Given the description of an element on the screen output the (x, y) to click on. 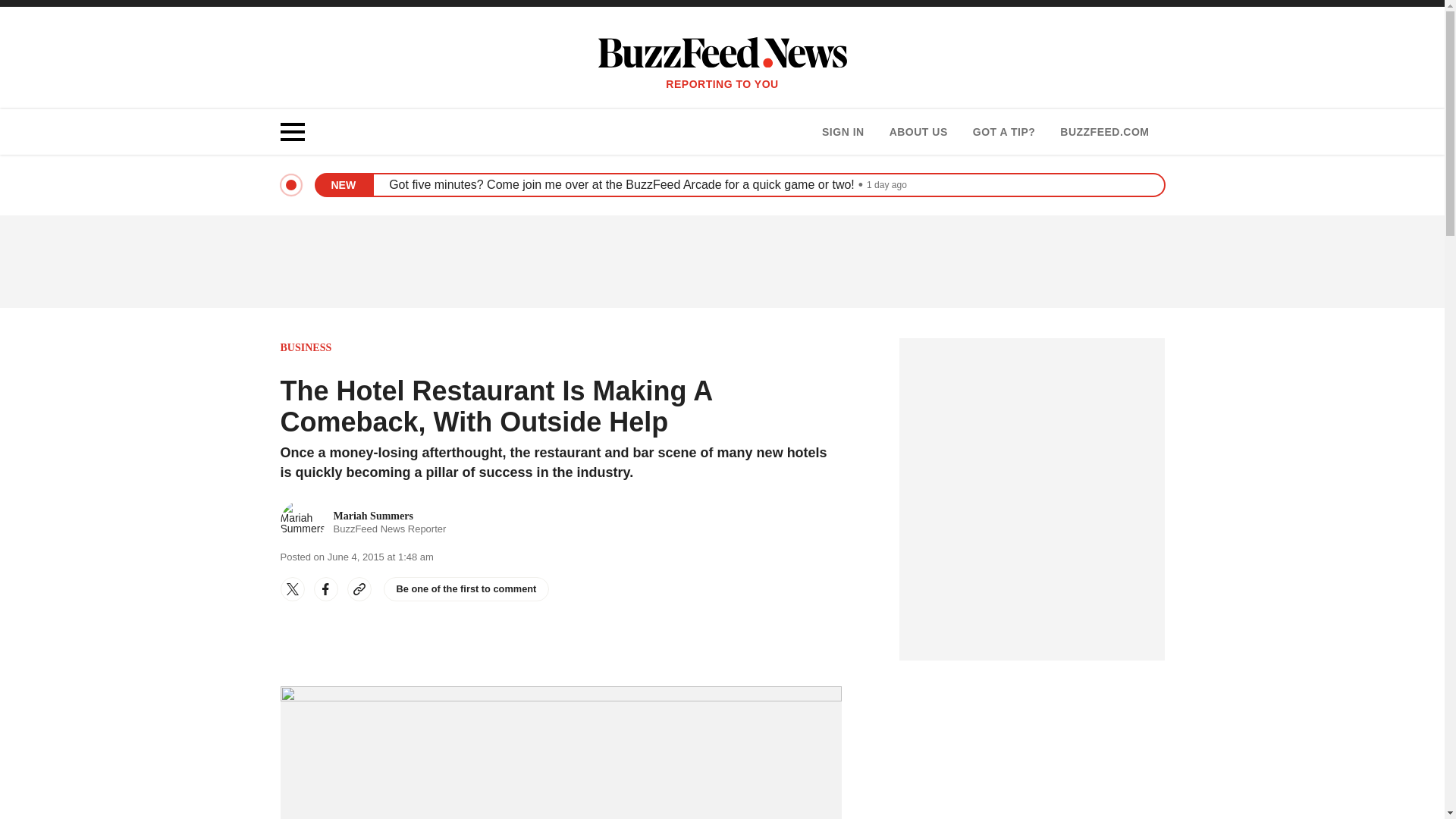
ABOUT US (917, 131)
SIGN IN (842, 131)
BUSINESS (306, 347)
Be one of the first to comment (363, 522)
BUZZFEED.COM (467, 589)
GOT A TIP? (1103, 131)
